Given the description of an element on the screen output the (x, y) to click on. 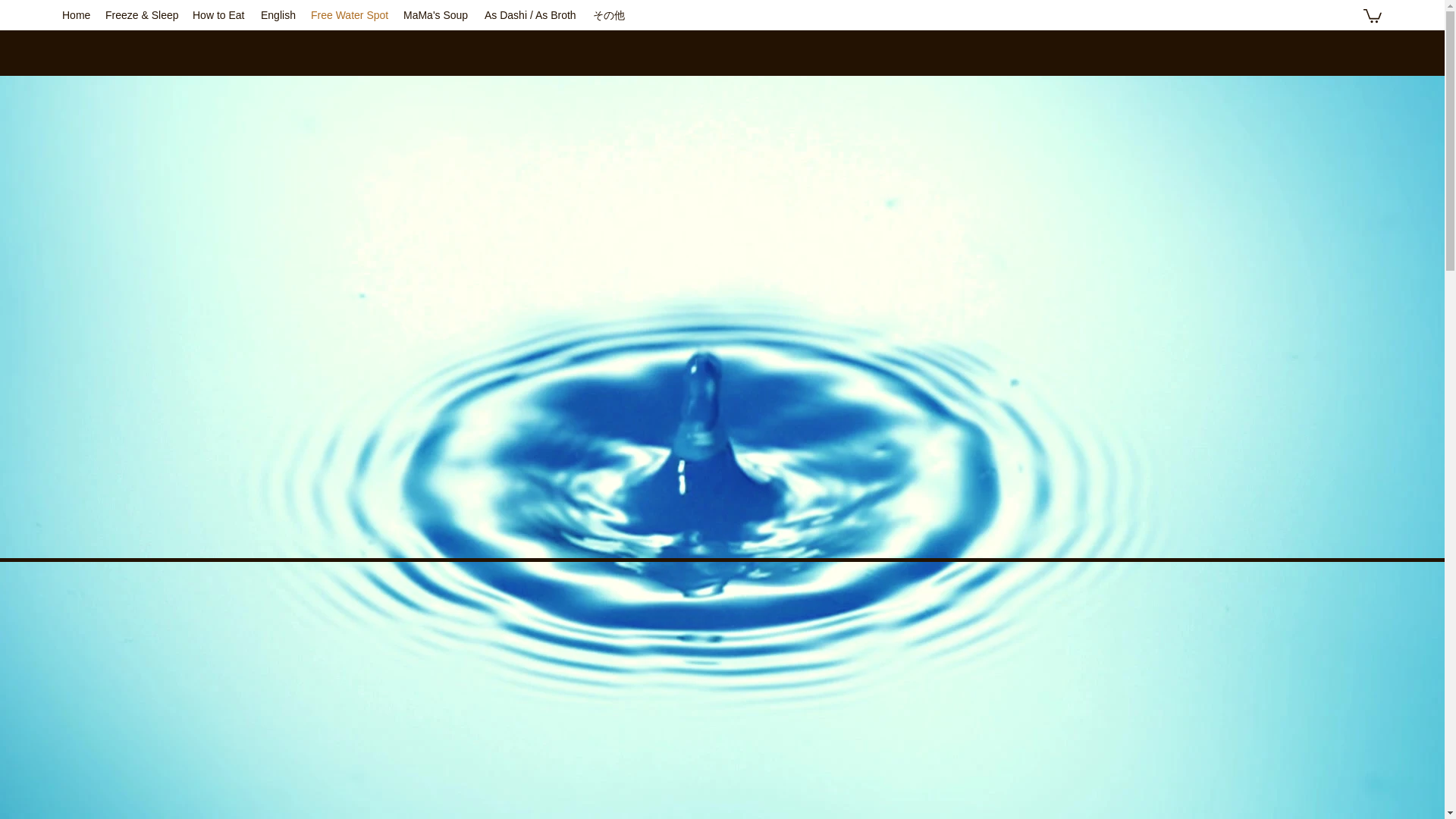
How to Eat (218, 15)
Home (76, 15)
English (277, 15)
MaMa's Soup (436, 15)
Free Water Spot (349, 15)
